Given the description of an element on the screen output the (x, y) to click on. 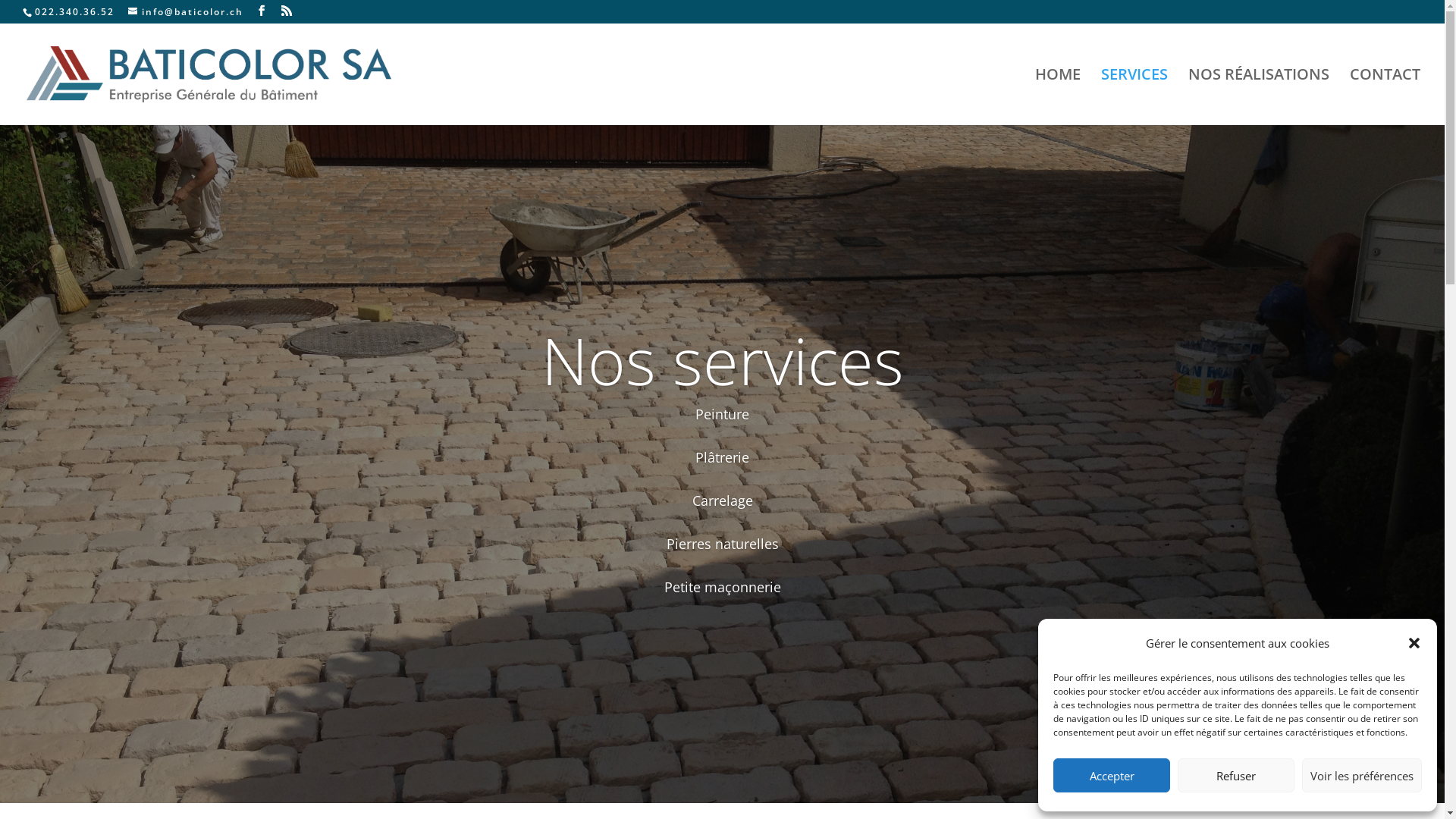
HOME Element type: text (1057, 97)
Refuser Element type: text (1235, 775)
CONTACT Element type: text (1384, 97)
SERVICES Element type: text (1134, 97)
info@baticolor.ch Element type: text (185, 11)
Accepter Element type: text (1111, 775)
